Given the description of an element on the screen output the (x, y) to click on. 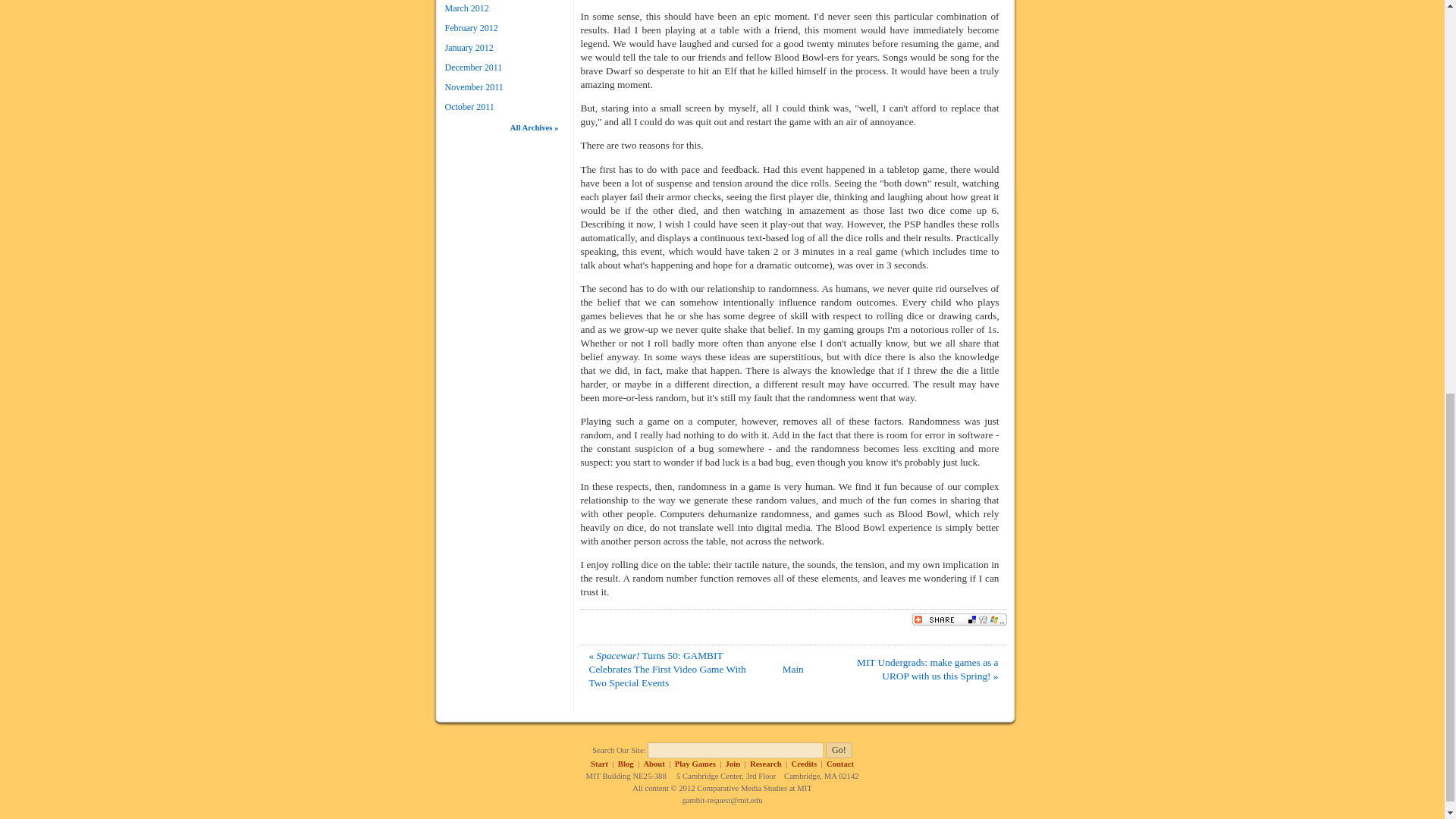
February 2012 (470, 27)
November 2011 (473, 86)
March 2012 (465, 8)
December 2011 (473, 67)
Go! (838, 750)
January 2012 (468, 47)
